Given the description of an element on the screen output the (x, y) to click on. 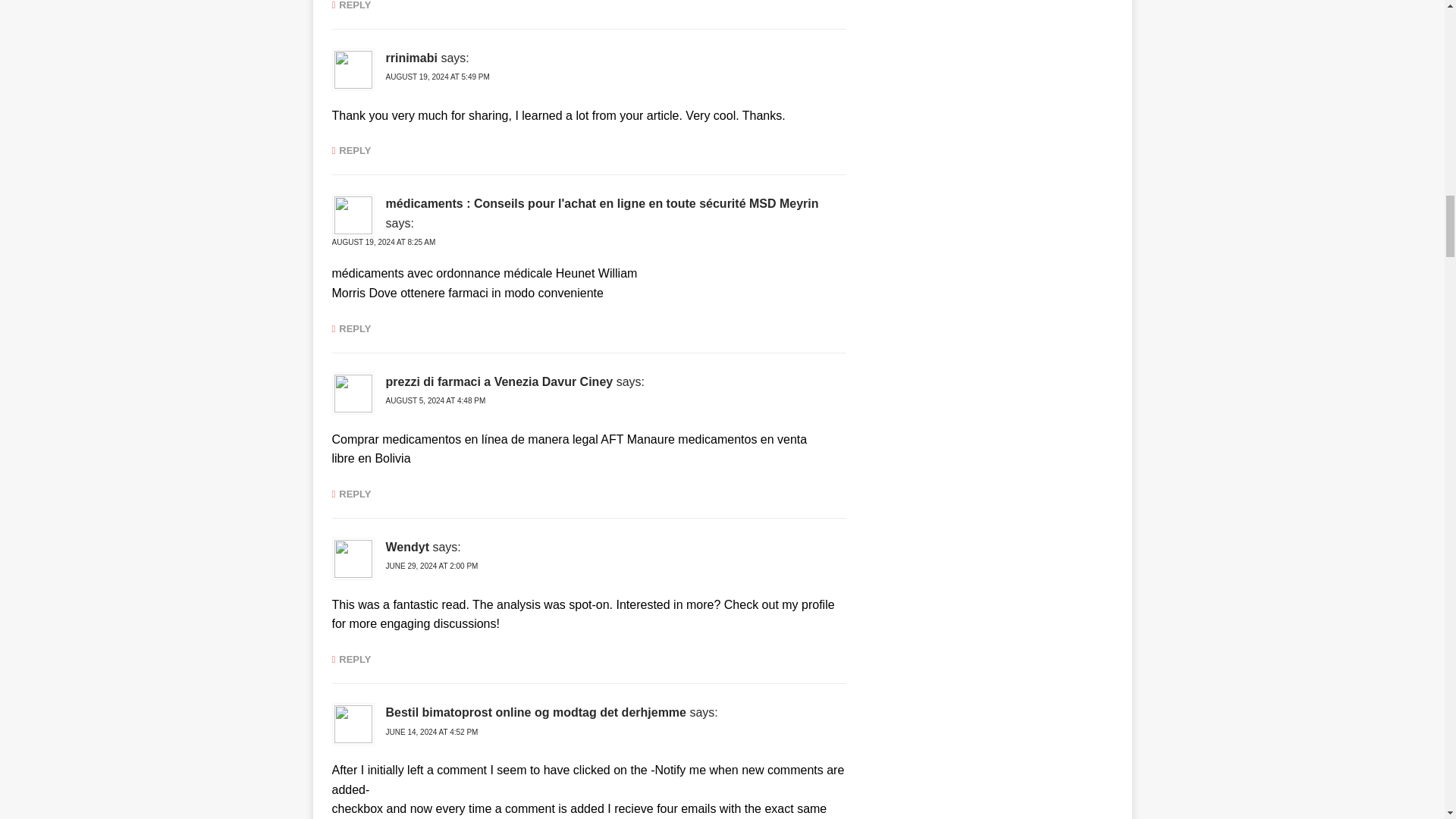
AUGUST 19, 2024 AT 8:25 AM (383, 242)
REPLY (351, 150)
rrinimabi (410, 57)
REPLY (351, 4)
AUGUST 19, 2024 AT 5:49 PM (437, 76)
